Given the description of an element on the screen output the (x, y) to click on. 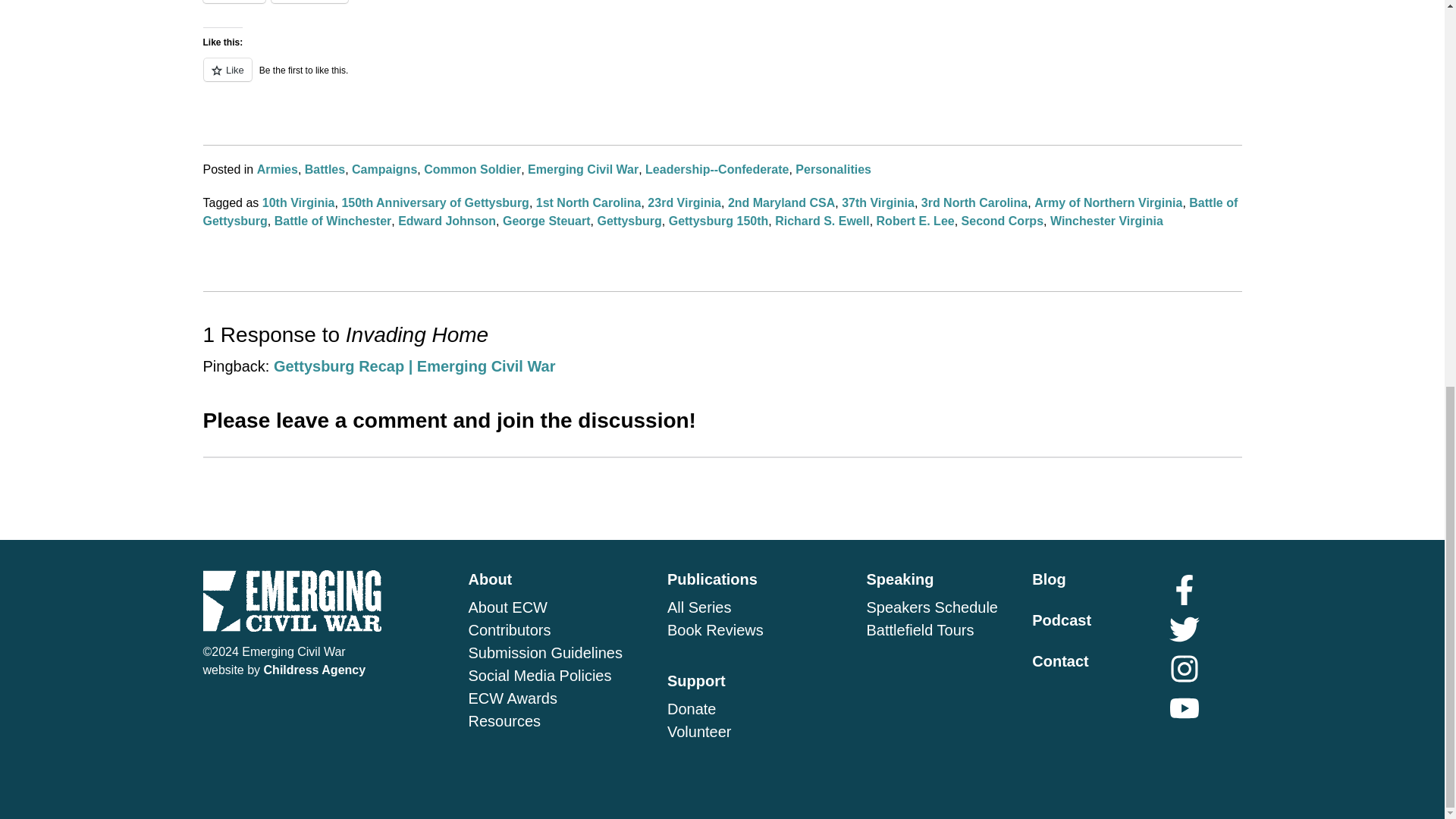
Emerging Civil War (583, 169)
Battles (324, 169)
Armies (277, 169)
Like or Reblog (722, 78)
Campaigns (384, 169)
Click to share on Twitter (233, 1)
Twitter (233, 1)
Facebook (308, 1)
Common Soldier (472, 169)
Click to share on Facebook (308, 1)
